Given the description of an element on the screen output the (x, y) to click on. 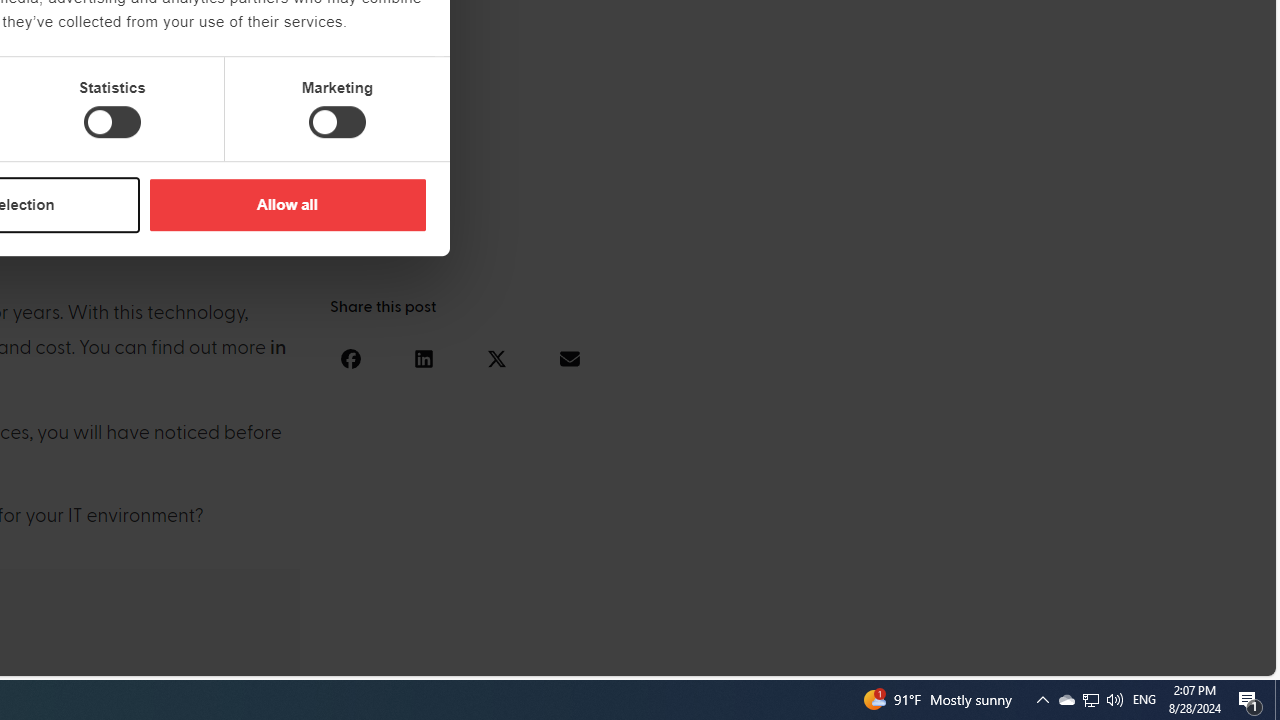
Language switcher : Norwegian (985, 657)
Language switcher : Italian (945, 657)
Language switcher : Spanish (925, 657)
Language switcher : Dutch (965, 657)
Marketing (337, 121)
Allow all (287, 204)
Language switcher : Croatian (1045, 657)
Share on facebook (350, 358)
Share on x-twitter (496, 358)
Language switcher : Slovak (1085, 657)
